Given the description of an element on the screen output the (x, y) to click on. 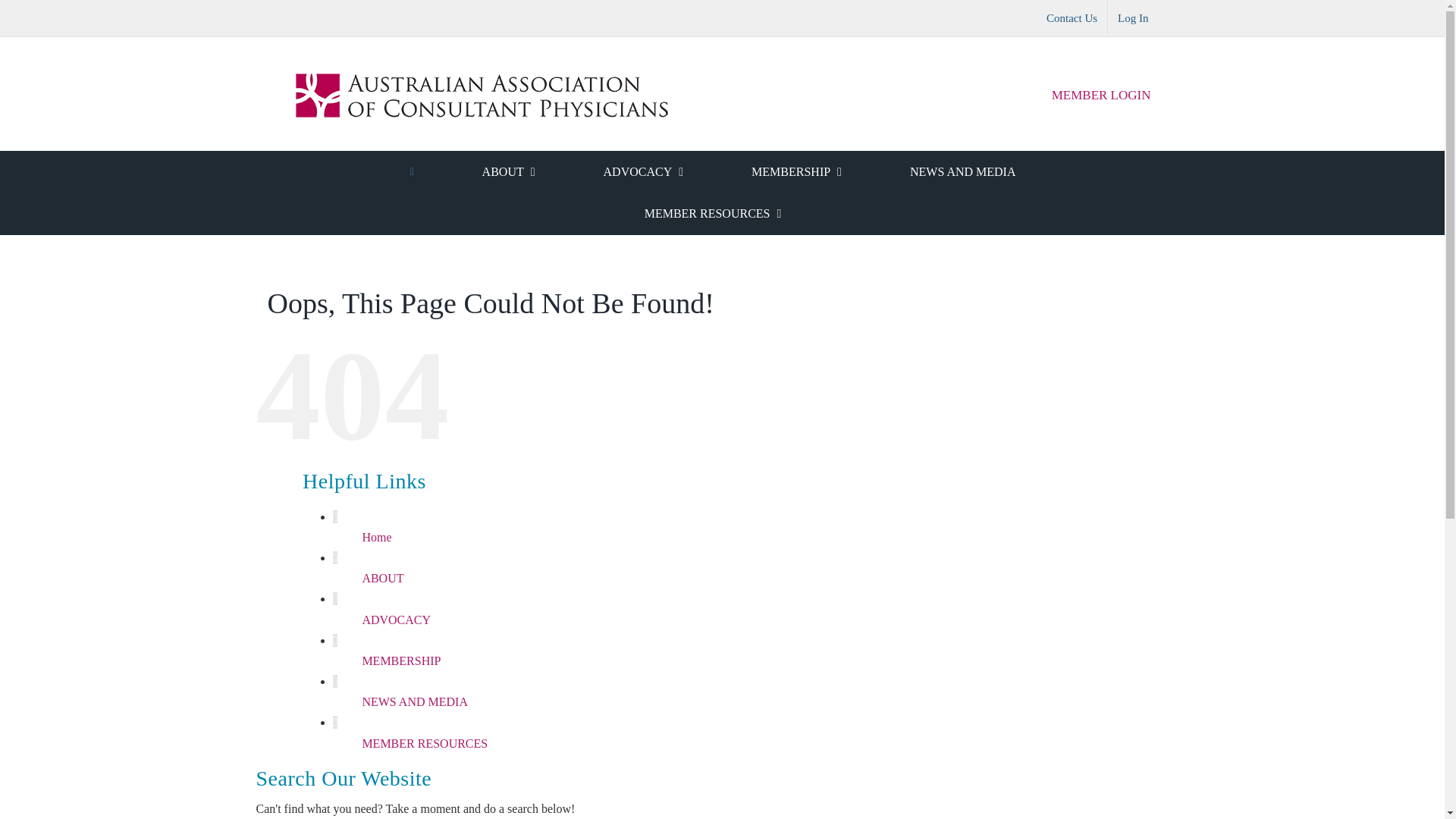
ABOUT Element type: text (508, 171)
ADVOCACY Element type: text (395, 619)
NEWS AND MEDIA Element type: text (414, 701)
MEMBERSHIP Element type: text (796, 171)
MEMBER LOGIN Element type: text (1101, 95)
NEWS AND MEDIA Element type: text (962, 171)
Log In Element type: text (1132, 18)
Home Element type: text (376, 536)
MEMBERSHIP Element type: text (400, 660)
ADVOCACY Element type: text (643, 171)
ABOUT Element type: text (382, 577)
MEMBER RESOURCES Element type: text (712, 213)
Contact Us Element type: text (1071, 18)
MEMBER RESOURCES Element type: text (424, 743)
